Given the description of an element on the screen output the (x, y) to click on. 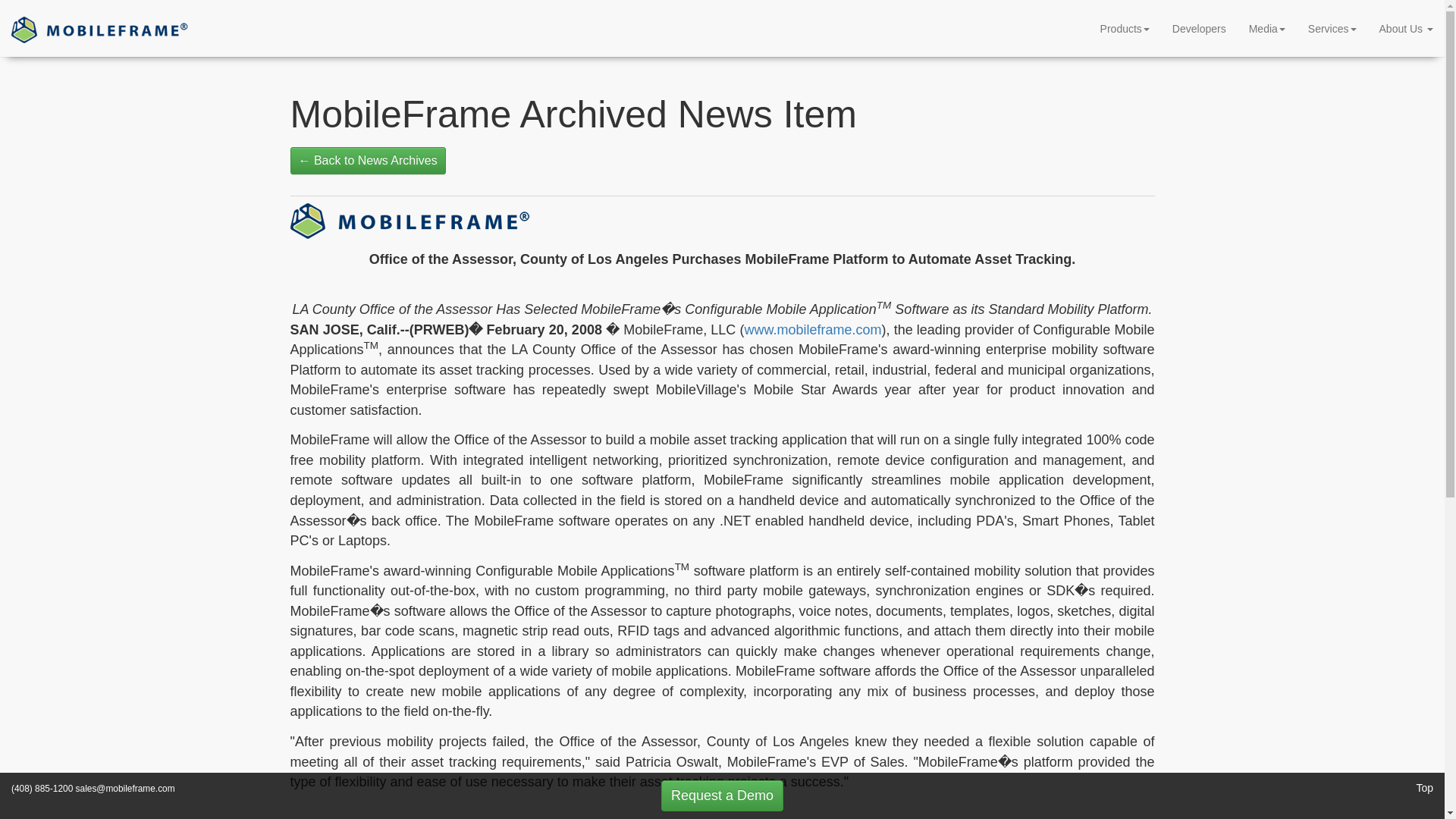
Services (1332, 28)
Back to top of page (1423, 787)
Developers (1198, 28)
Products (1124, 28)
www.mobileframe.com (812, 329)
Media (1267, 28)
MobileFrame Mobile Application Development Platform (99, 28)
Contact MobileFrame for a demo or more information (722, 795)
